Given the description of an element on the screen output the (x, y) to click on. 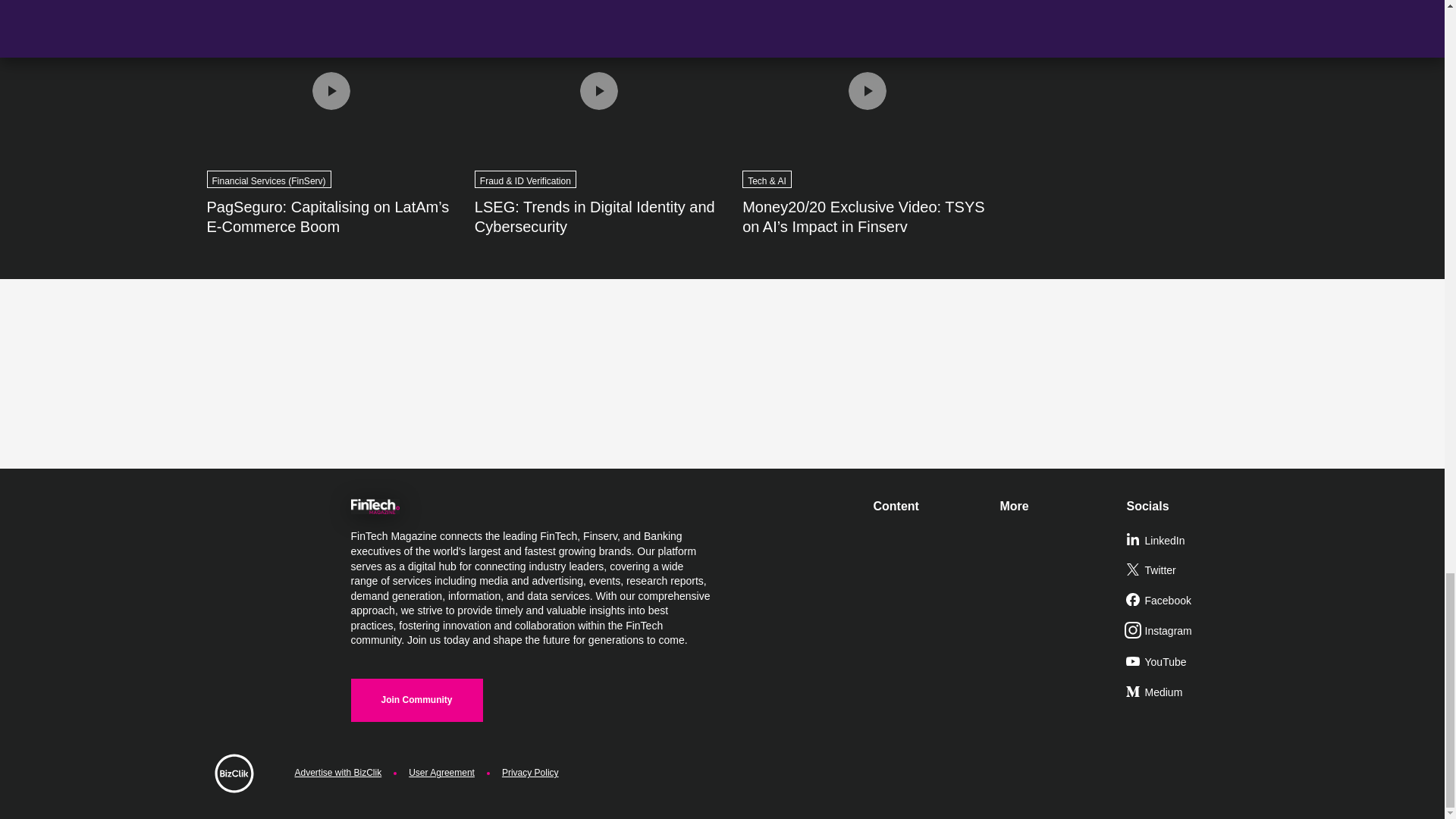
Instagram (1182, 631)
Facebook (1182, 601)
Join Community (415, 699)
LinkedIn (1182, 541)
Twitter (1182, 571)
